Given the description of an element on the screen output the (x, y) to click on. 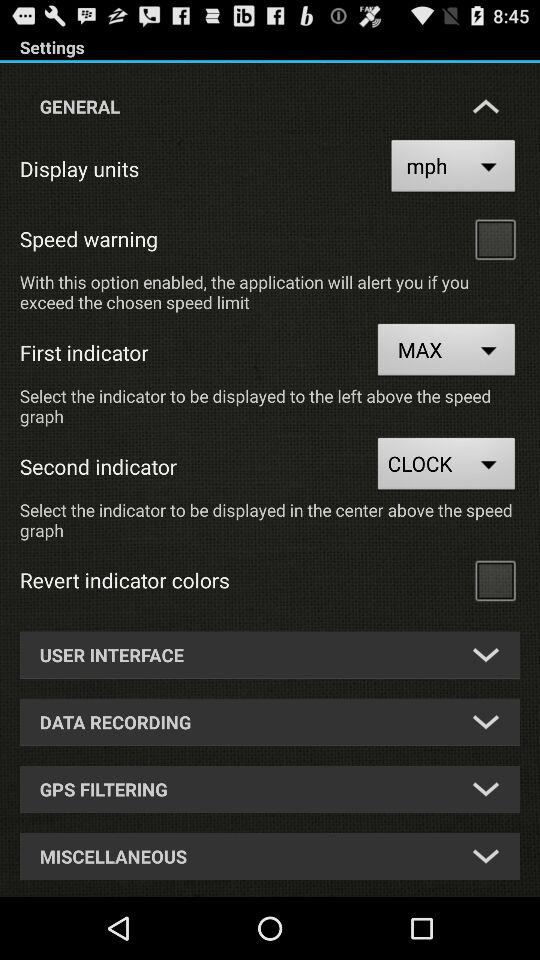
toggle speed warning option (495, 238)
